Given the description of an element on the screen output the (x, y) to click on. 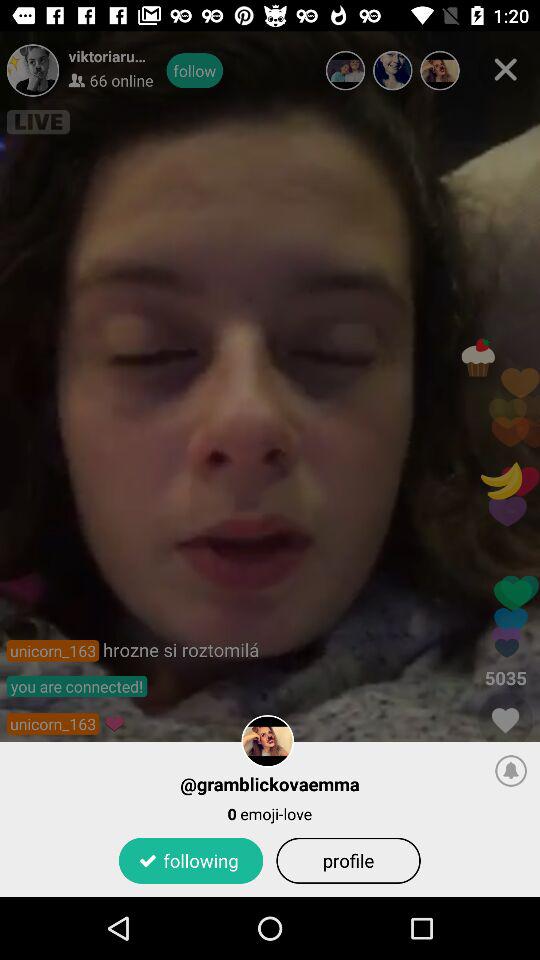
tap the item at the bottom right corner (511, 770)
